Given the description of an element on the screen output the (x, y) to click on. 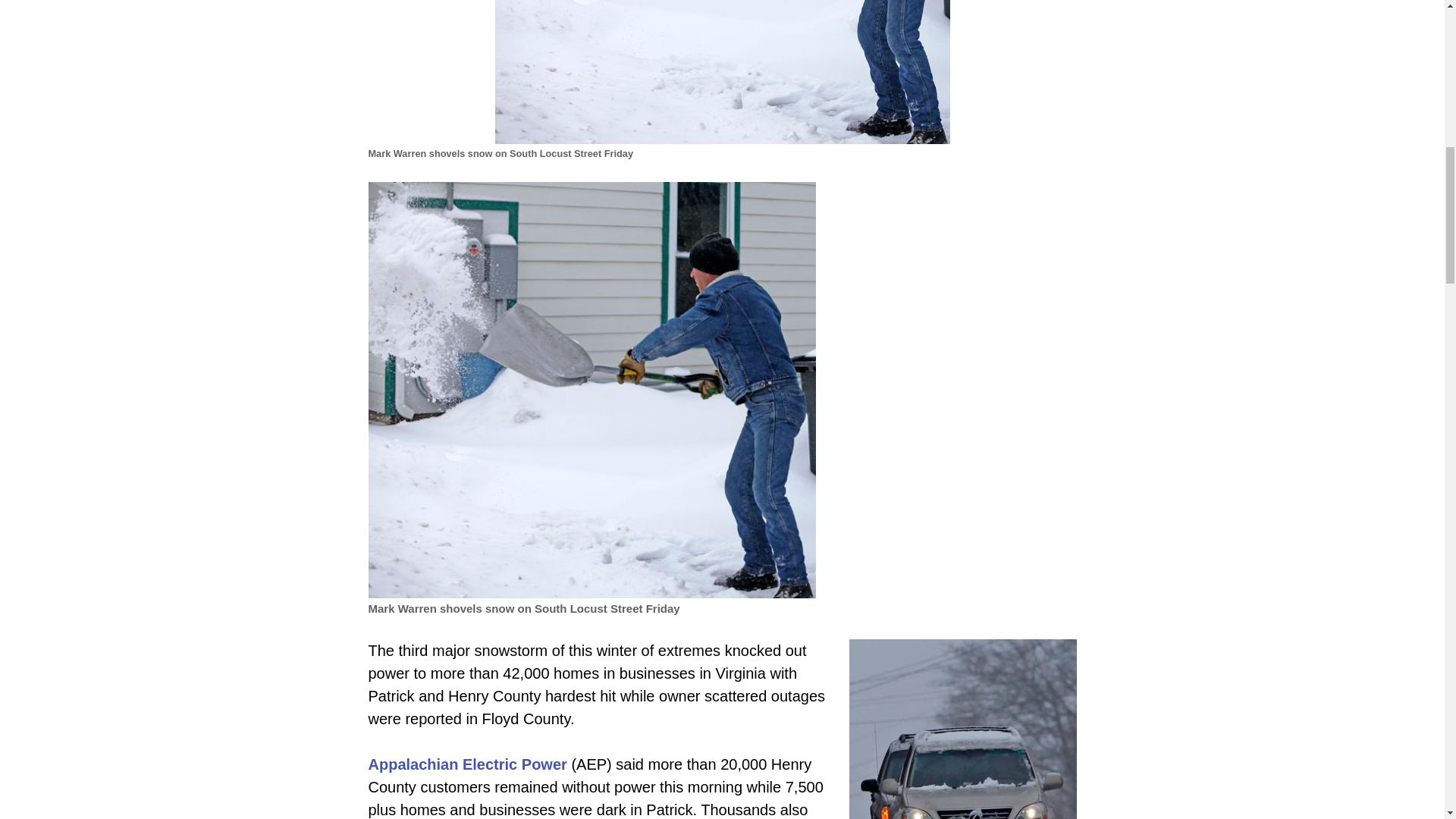
020610snow3 (962, 729)
Appalachian Electric Power (467, 764)
